Given the description of an element on the screen output the (x, y) to click on. 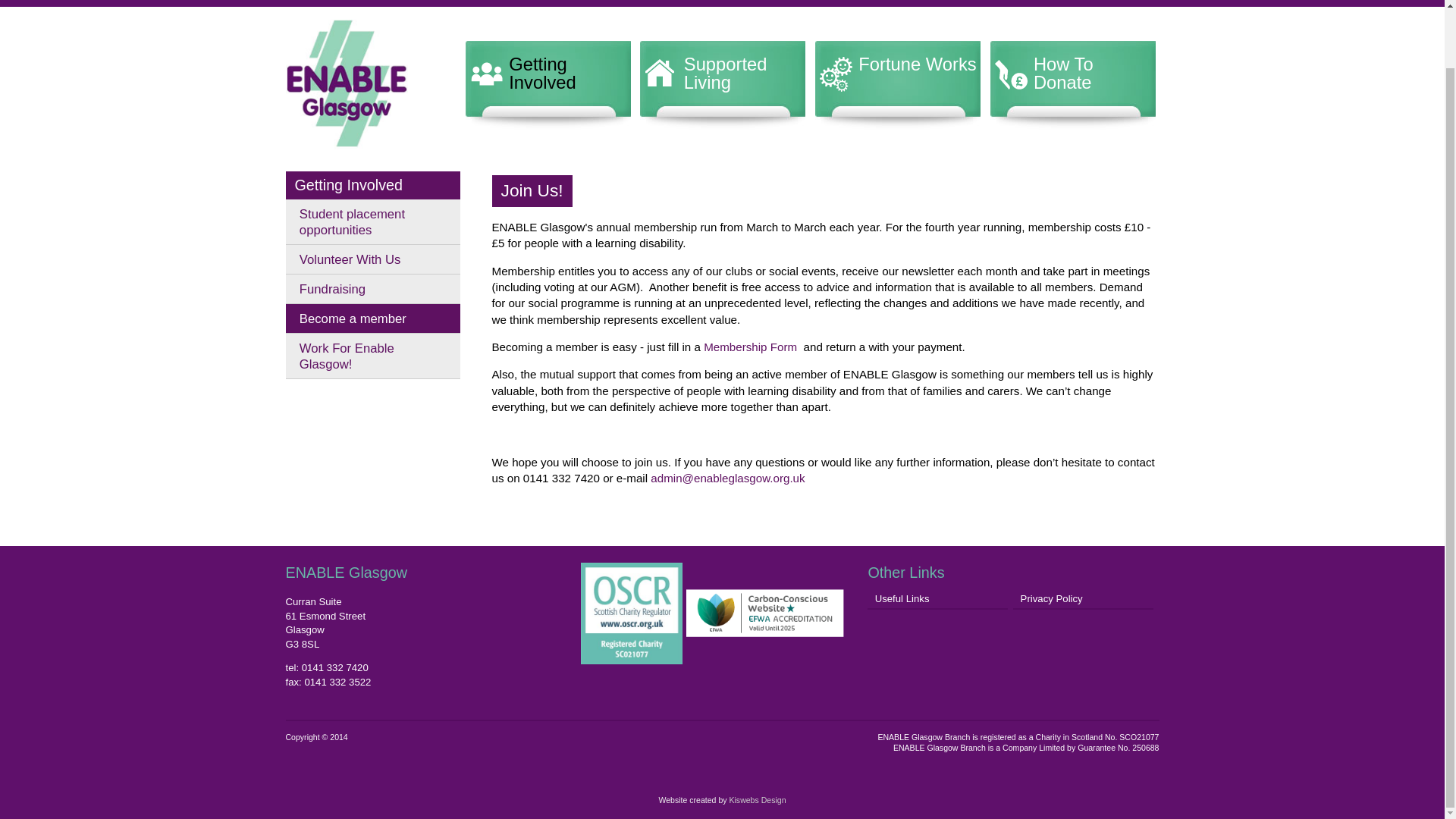
Membership Form (748, 346)
News (416, 4)
Events (558, 4)
Kiswebs Design (757, 799)
Social Activities (485, 4)
Getting Involved (547, 85)
About Us (361, 4)
Useful Information (722, 4)
Getting Involved (348, 184)
Fundraising (372, 288)
Supported Living (722, 85)
Home (305, 4)
Fortune Works (896, 85)
Campaigning (626, 4)
Student placement opportunities (372, 221)
